Given the description of an element on the screen output the (x, y) to click on. 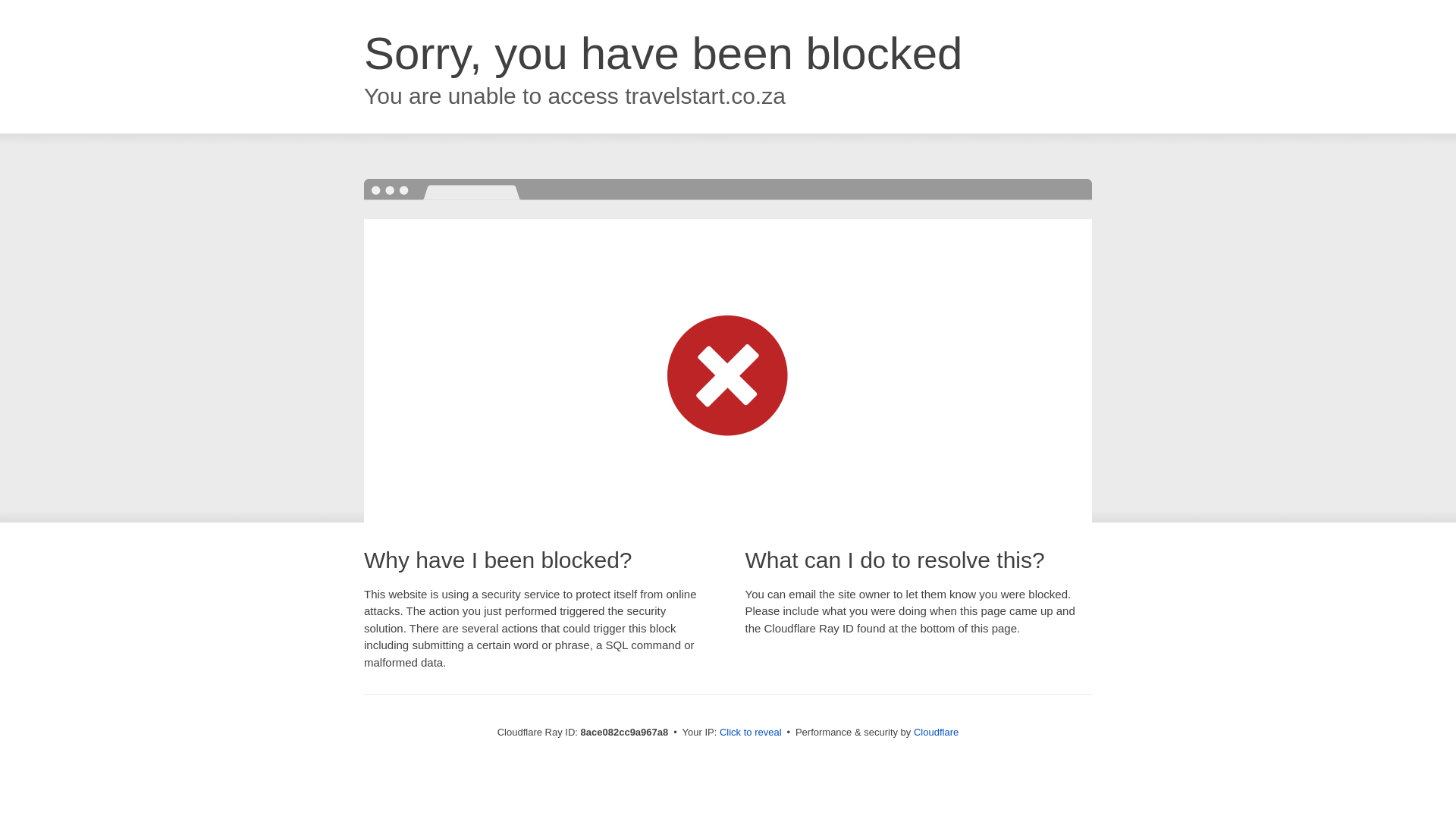
Cloudflare (936, 731)
Click to reveal (750, 732)
